Given the description of an element on the screen output the (x, y) to click on. 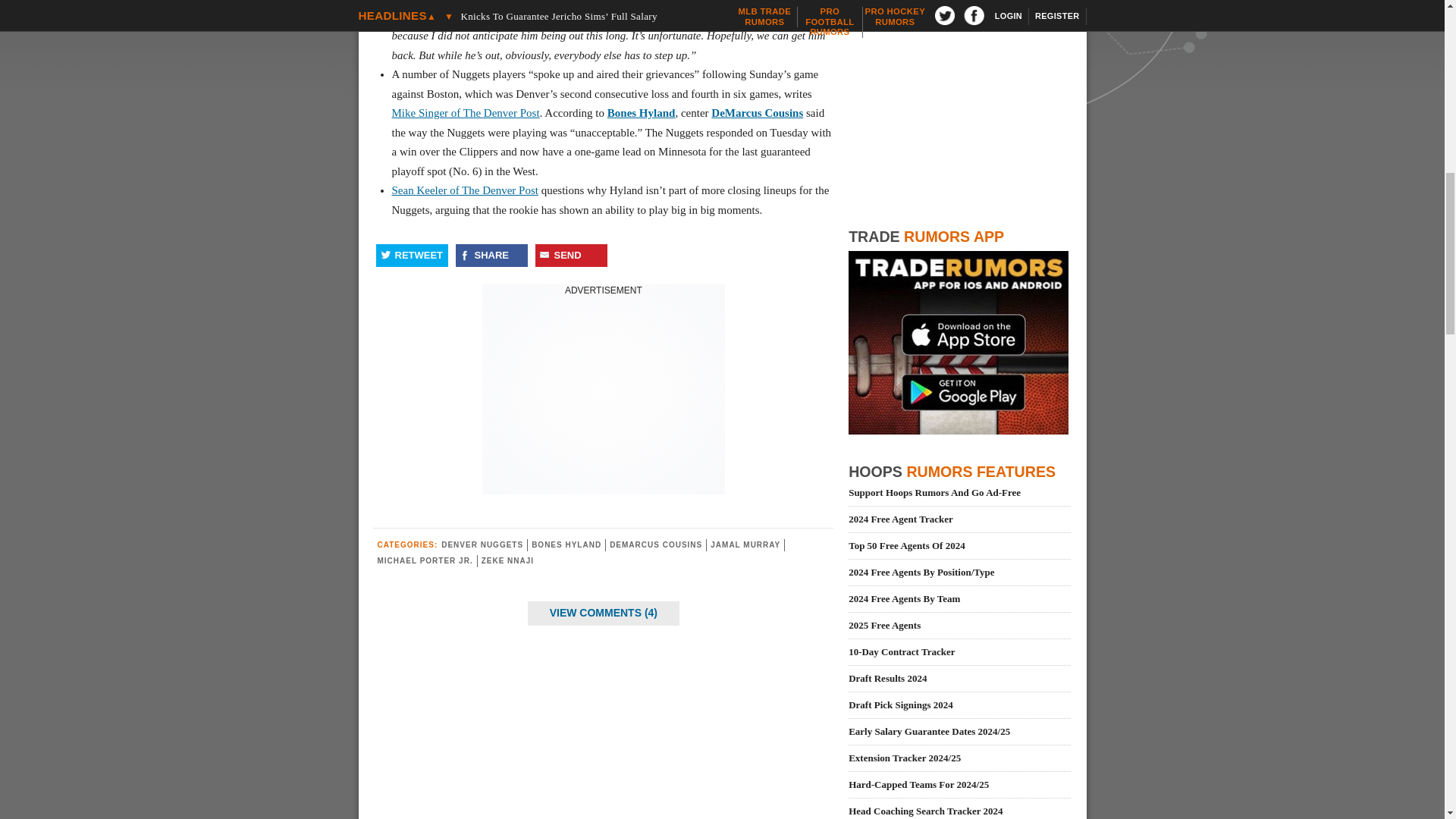
View all posts in Bones Hyland (566, 544)
View all posts in Jamal Murray (745, 544)
View all posts in Zeke Nnaji (507, 560)
3rd party ad content (603, 391)
View all posts in DeMarcus Cousins (655, 544)
View all posts in Denver Nuggets (481, 544)
View all posts in Michael Porter Jr. (425, 560)
